Given the description of an element on the screen output the (x, y) to click on. 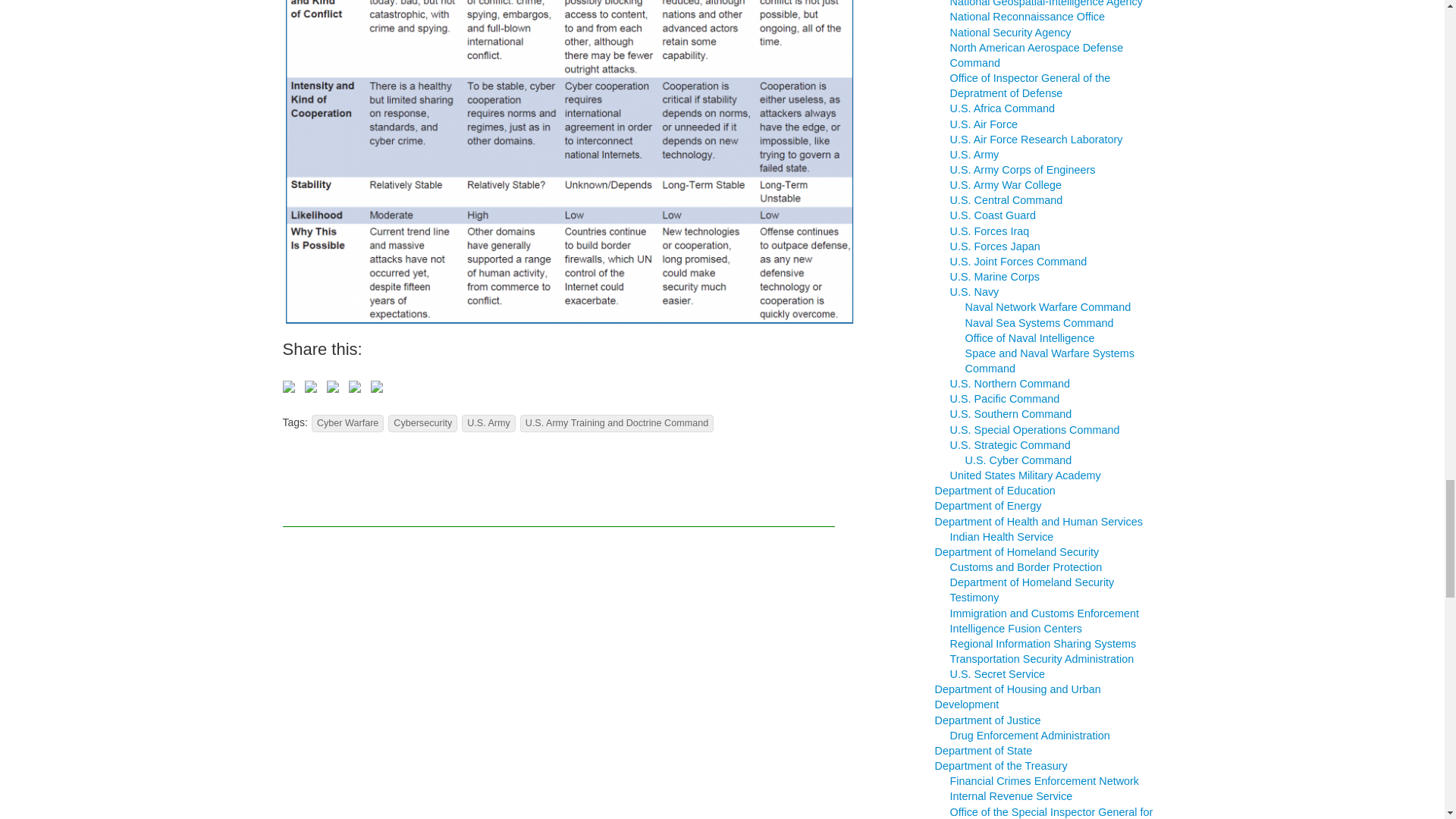
Cybersecurity (422, 423)
Share on Linkedin (355, 386)
U.S. Army (488, 423)
Share on Twitter (310, 386)
Share on Linkedin (357, 389)
Share on Reddit (334, 389)
Share by email (375, 386)
Share on Facebook (288, 386)
Share by email (378, 389)
Share on Facebook (290, 389)
